Given the description of an element on the screen output the (x, y) to click on. 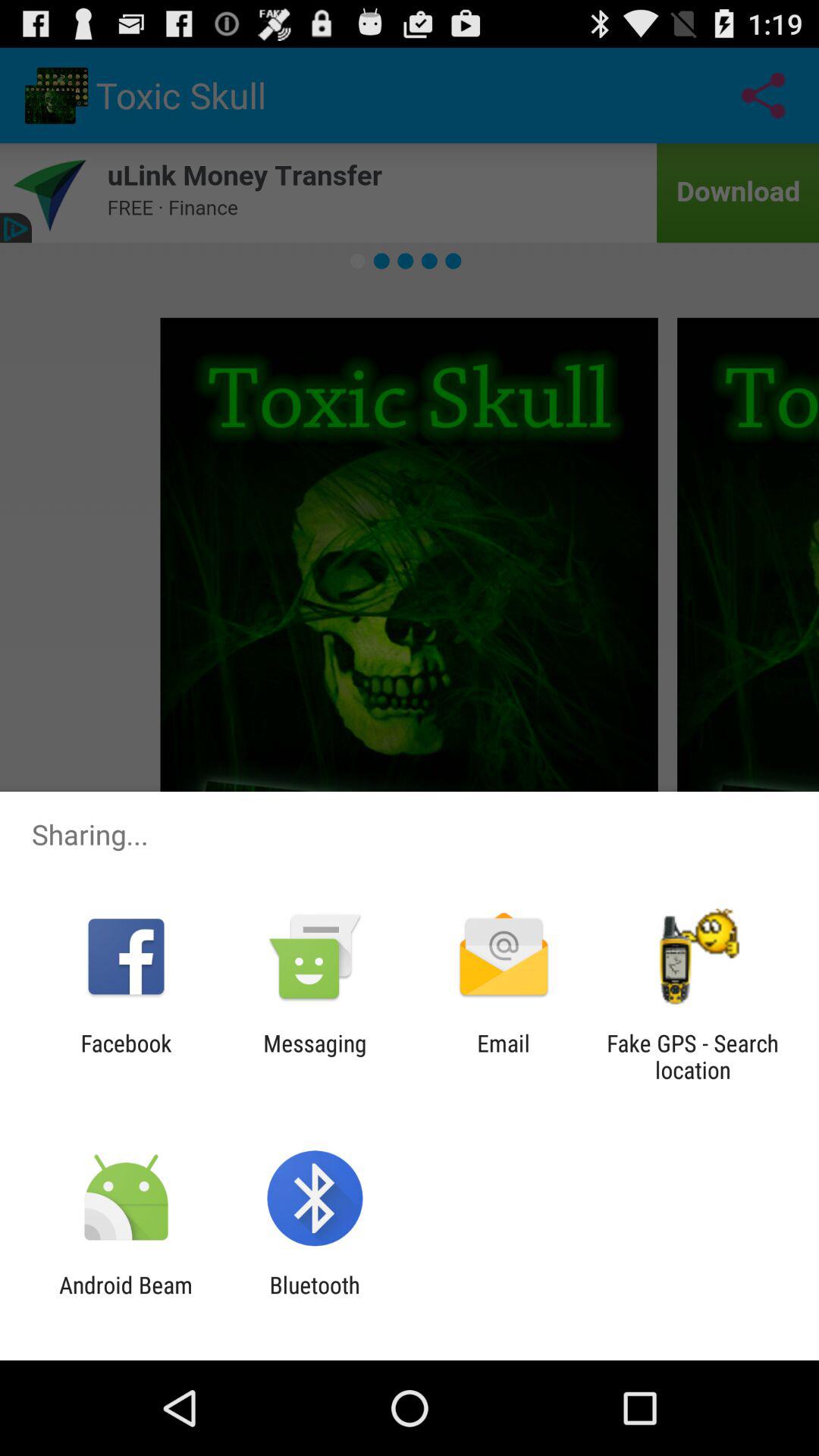
press item next to bluetooth app (125, 1298)
